Given the description of an element on the screen output the (x, y) to click on. 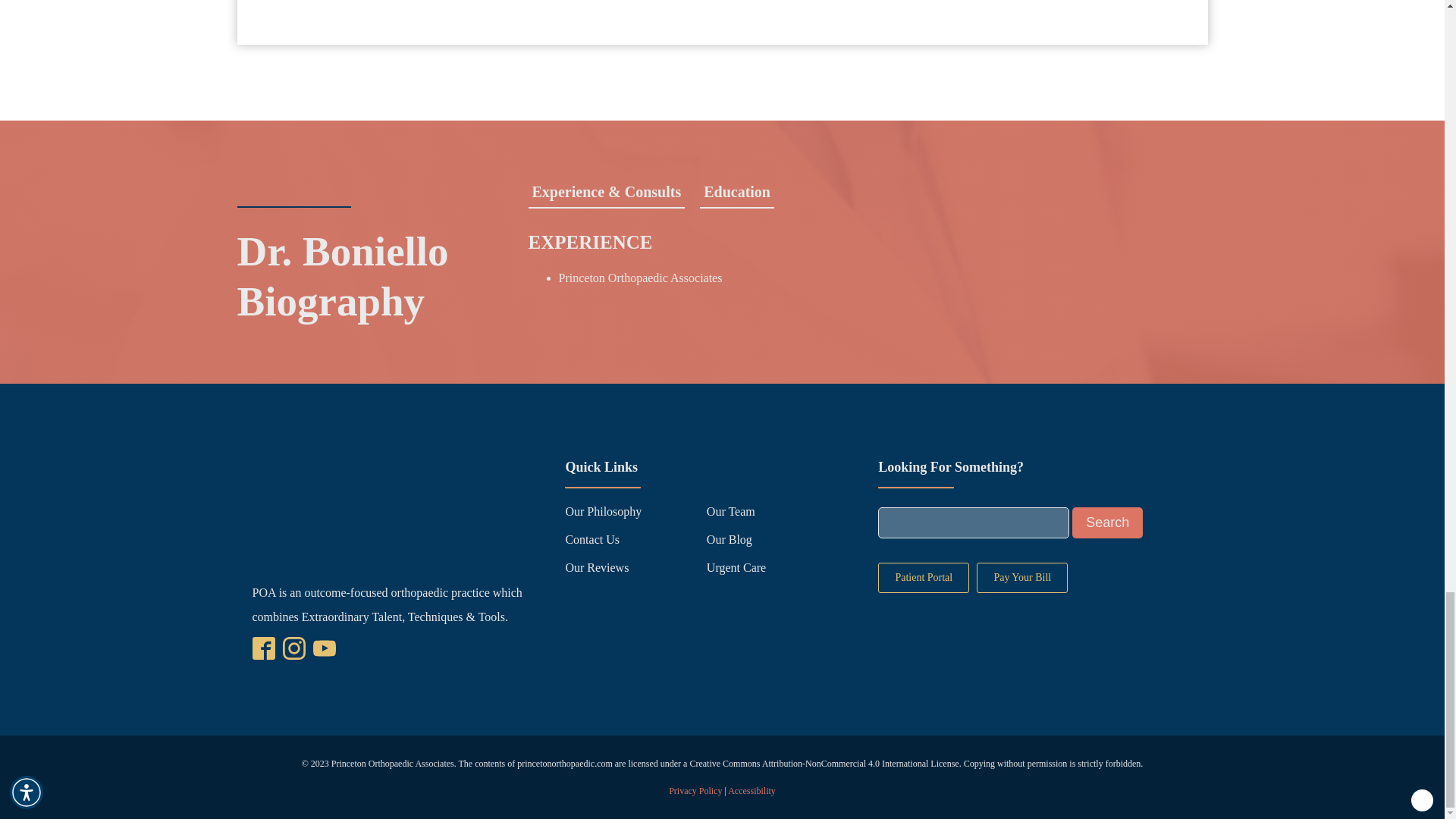
Visit Clear Partnering Group (1421, 800)
Search (1106, 522)
